Given the description of an element on the screen output the (x, y) to click on. 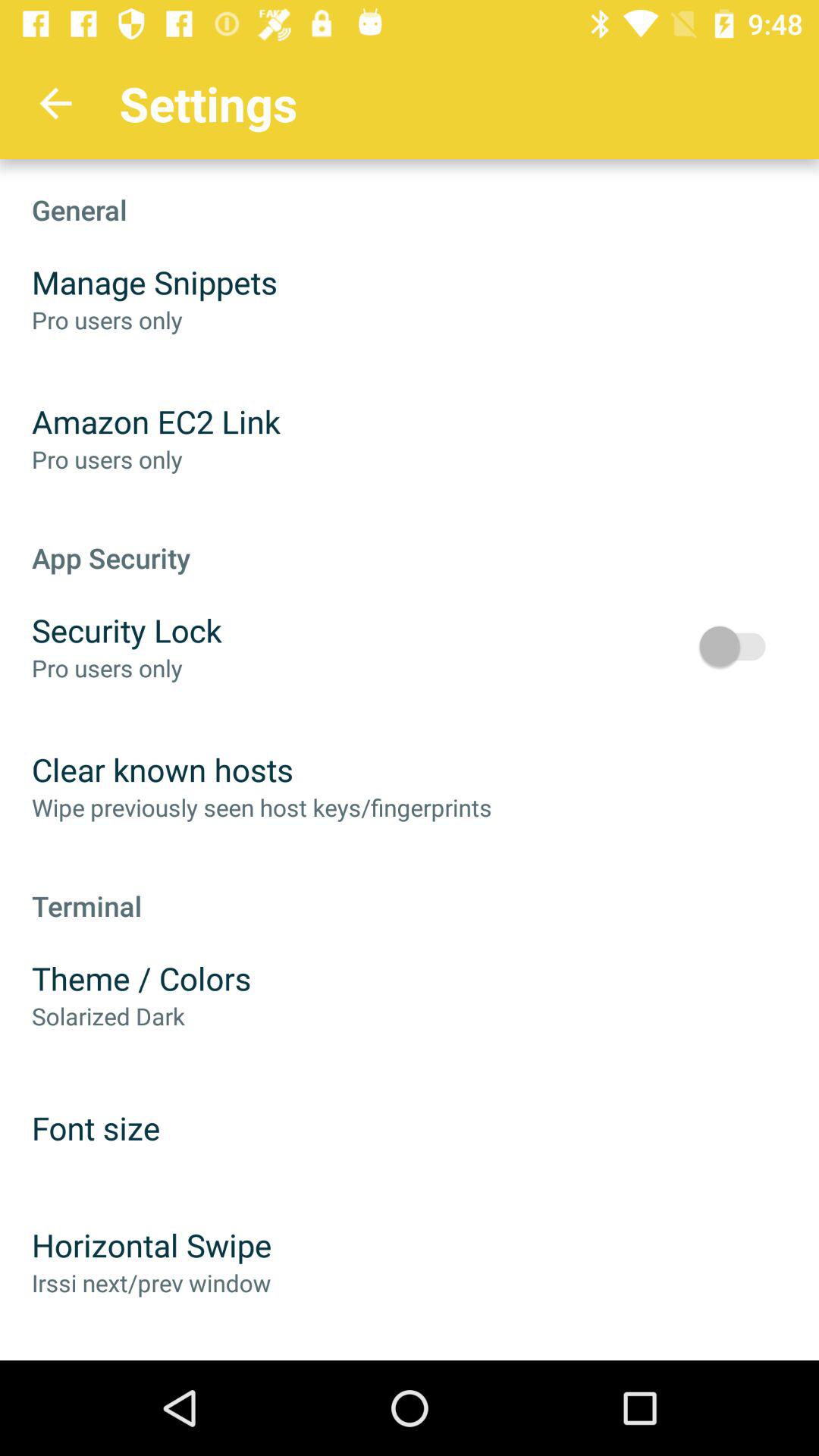
open the icon above the pro users only icon (155, 421)
